Given the description of an element on the screen output the (x, y) to click on. 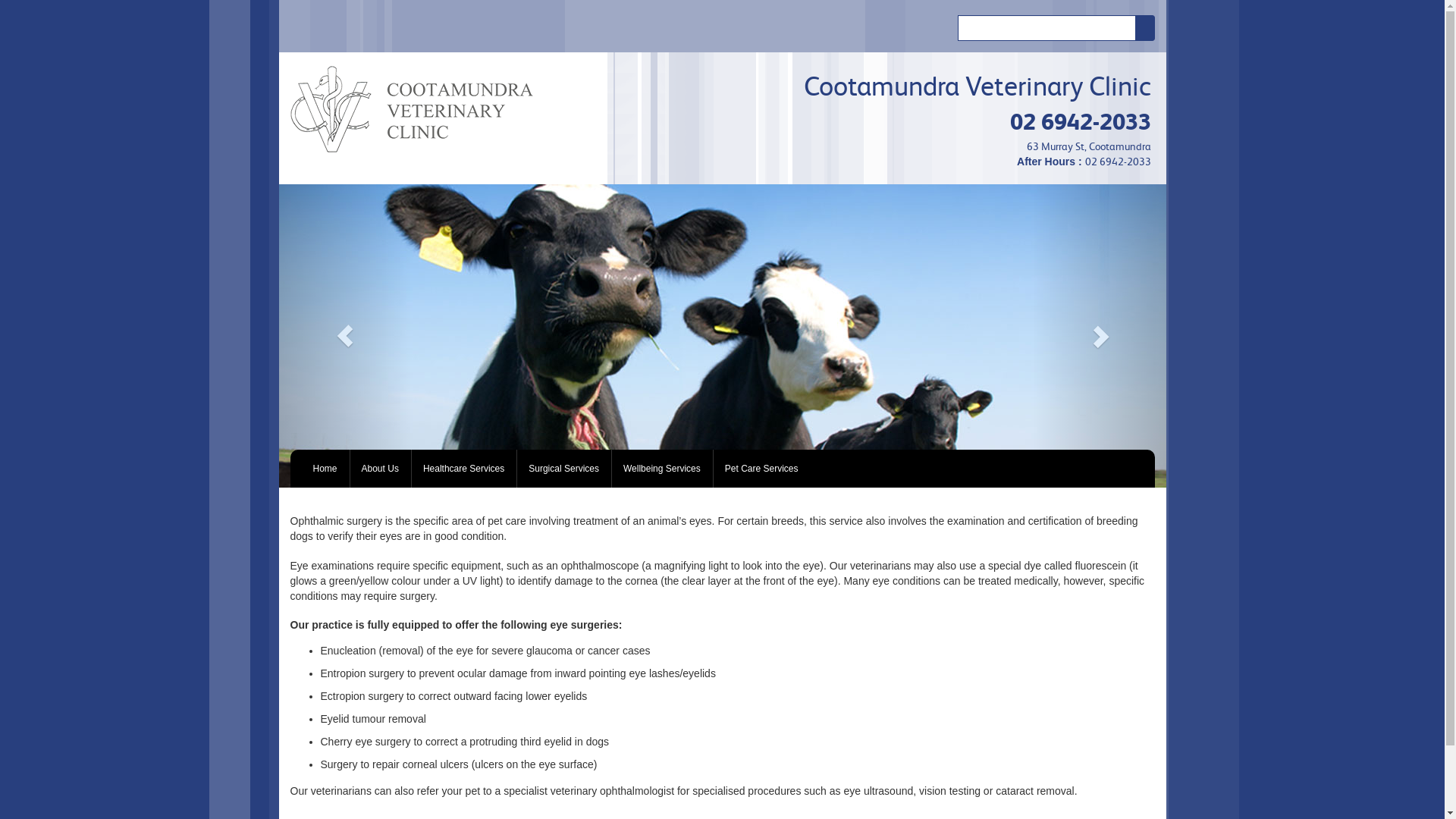
About Us Element type: text (380, 468)
02 6942-2033 Element type: text (1080, 121)
Wellbeing Services Element type: text (661, 468)
02 6942-2033 Element type: text (1117, 161)
Home Element type: text (325, 468)
Surgical Services Element type: text (563, 468)
Healthcare Services Element type: text (463, 468)
Pet Care Services Element type: text (760, 468)
